Given the description of an element on the screen output the (x, y) to click on. 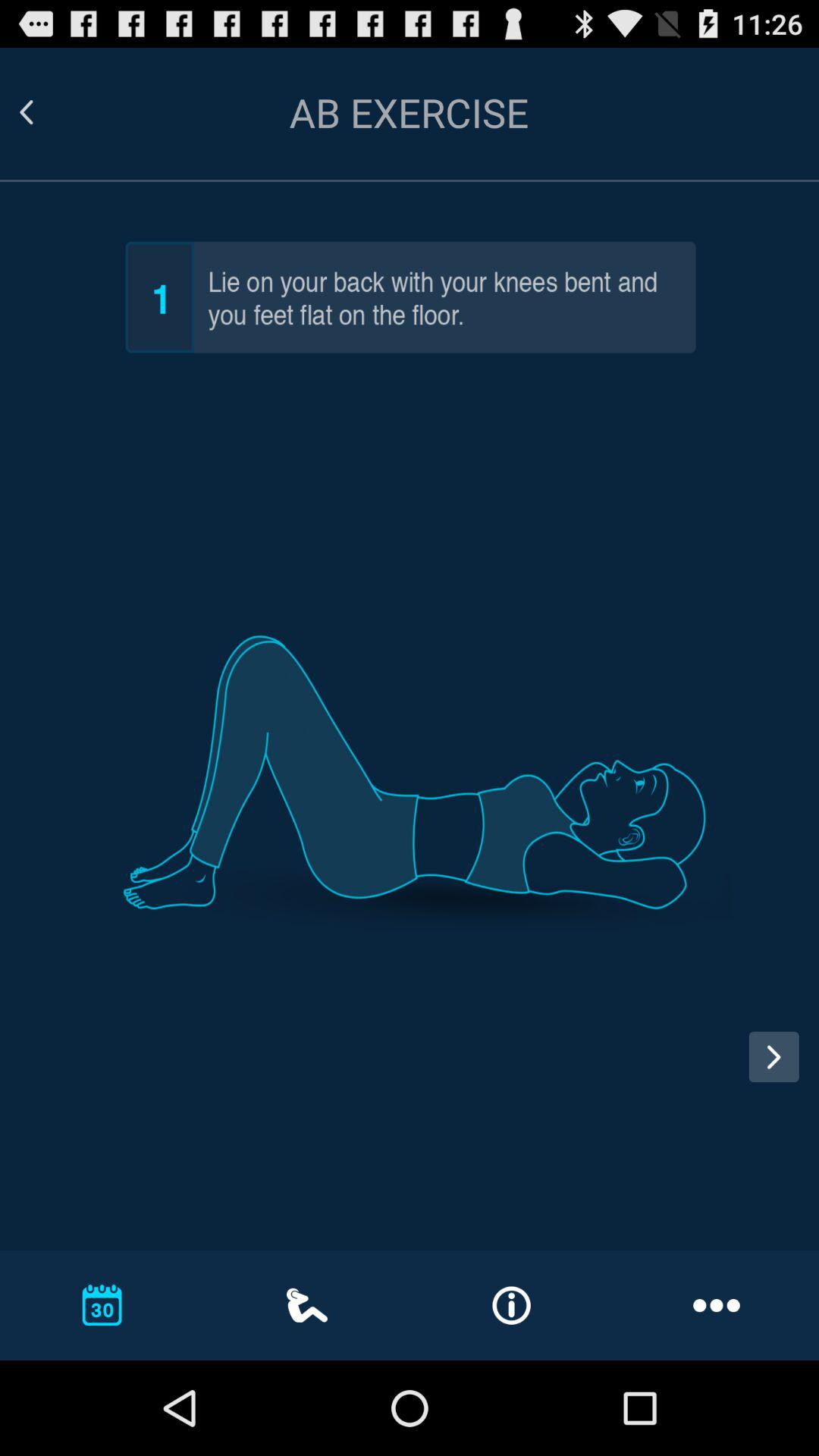
go forward (774, 1056)
